Given the description of an element on the screen output the (x, y) to click on. 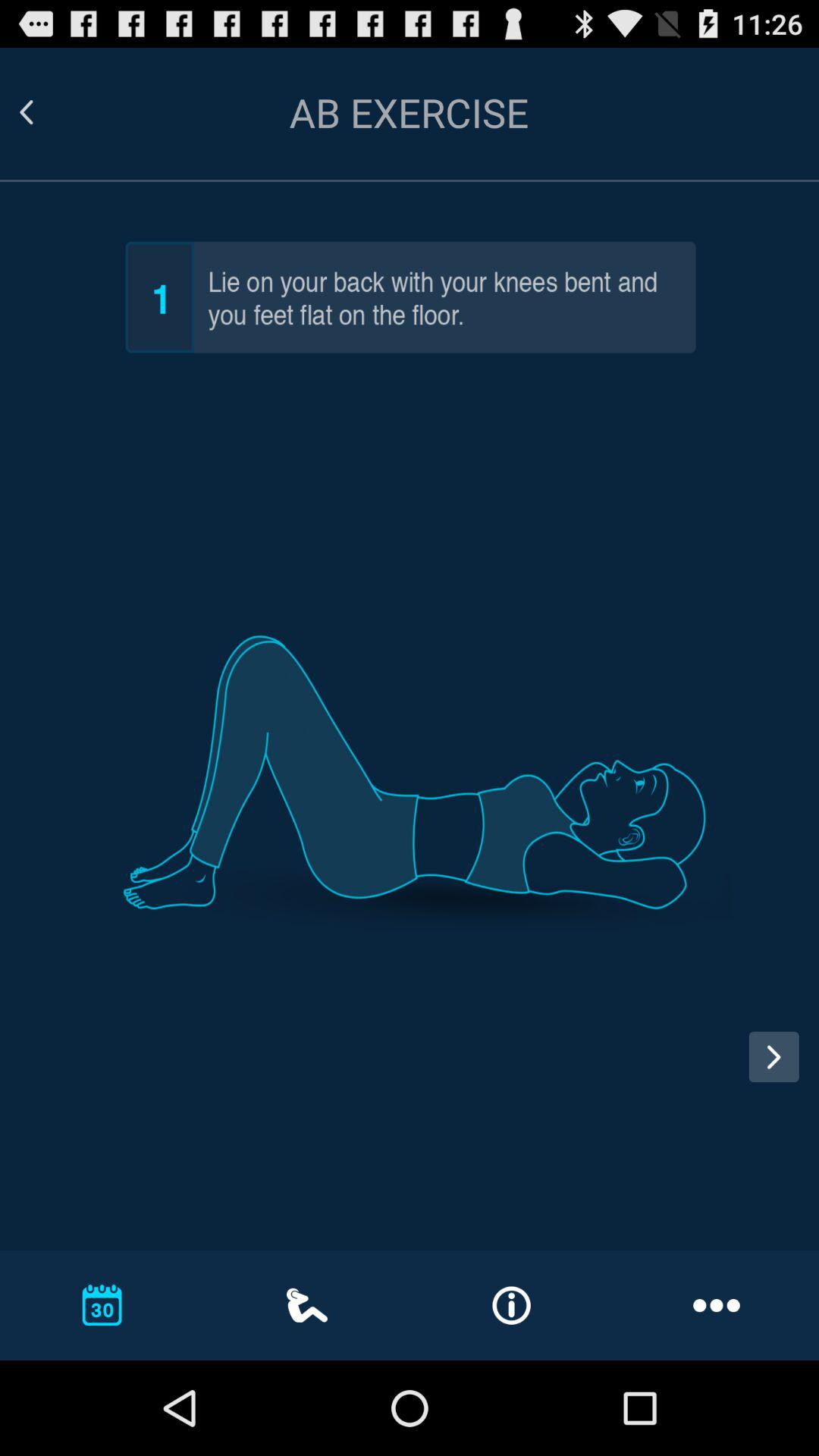
go forward (774, 1056)
